Given the description of an element on the screen output the (x, y) to click on. 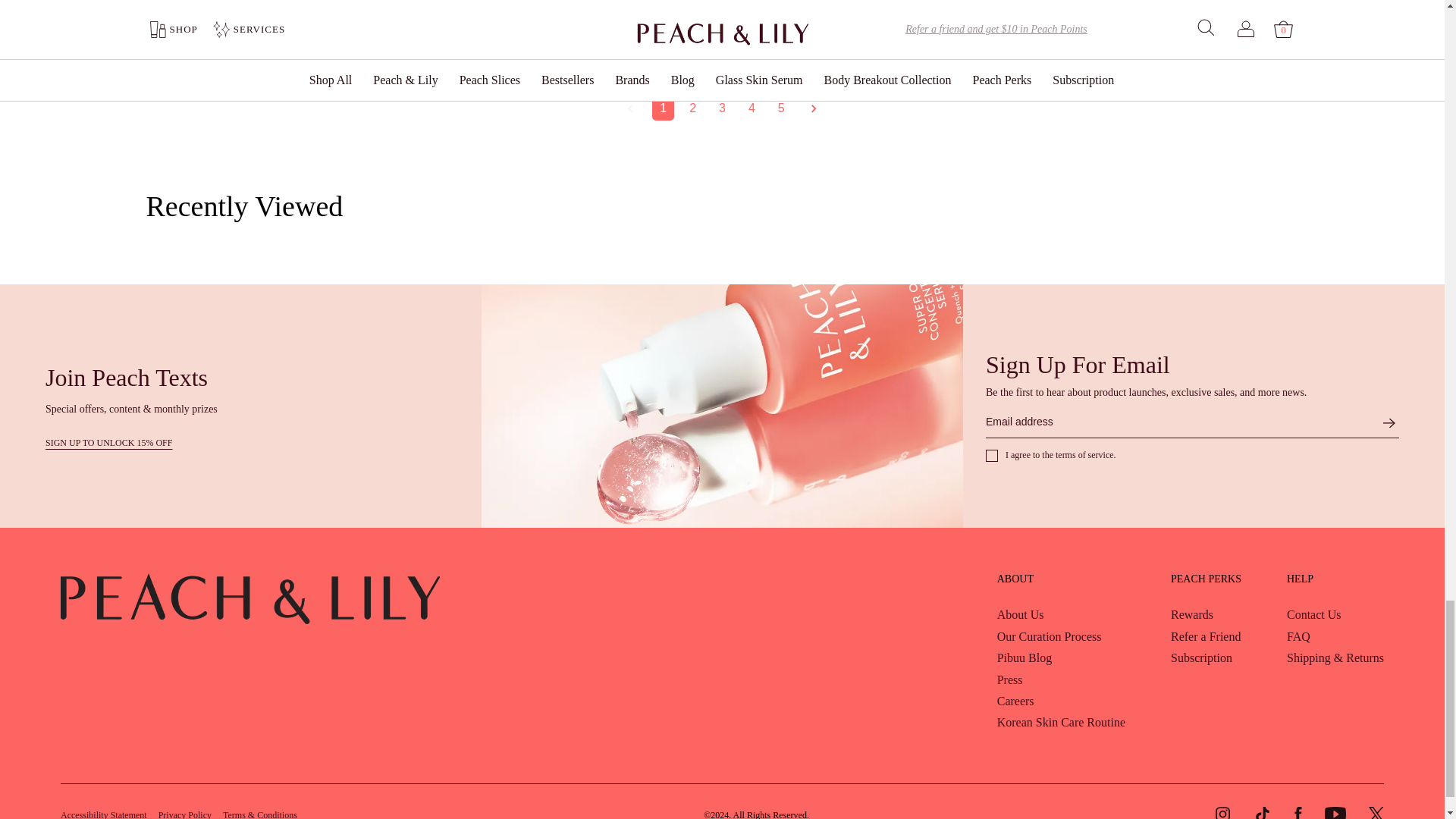
1 (663, 108)
